Given the description of an element on the screen output the (x, y) to click on. 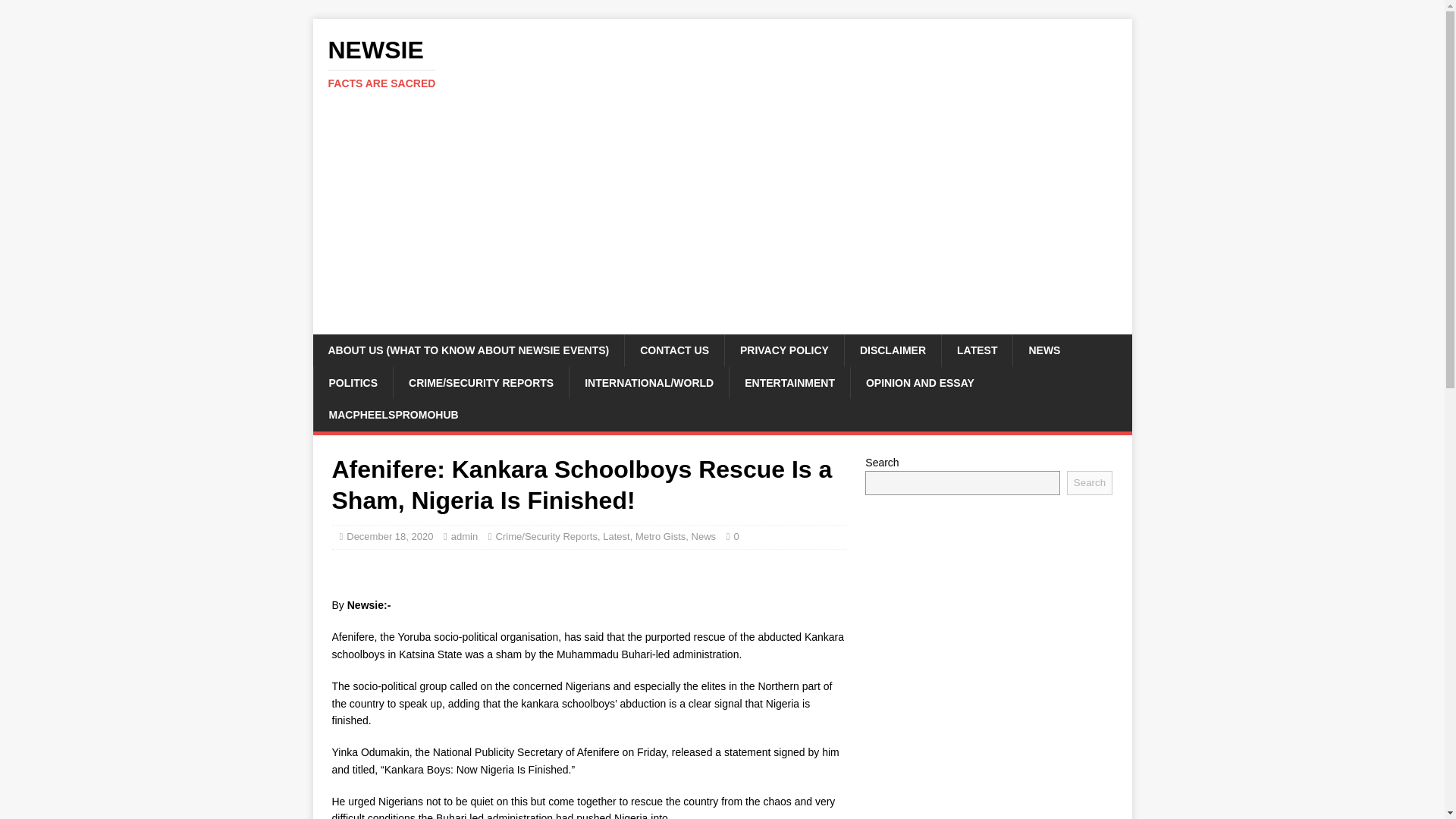
Latest (615, 536)
ENTERTAINMENT (789, 382)
NEWS (1043, 350)
CONTACT US (673, 350)
December 18, 2020 (389, 536)
Metro Gists (659, 536)
MACPHEELSPROMOHUB (393, 414)
LATEST (975, 350)
Newsie (721, 63)
POLITICS (353, 382)
OPINION AND ESSAY (920, 382)
0 (735, 536)
0 (721, 63)
PRIVACY POLICY (735, 536)
